Given the description of an element on the screen output the (x, y) to click on. 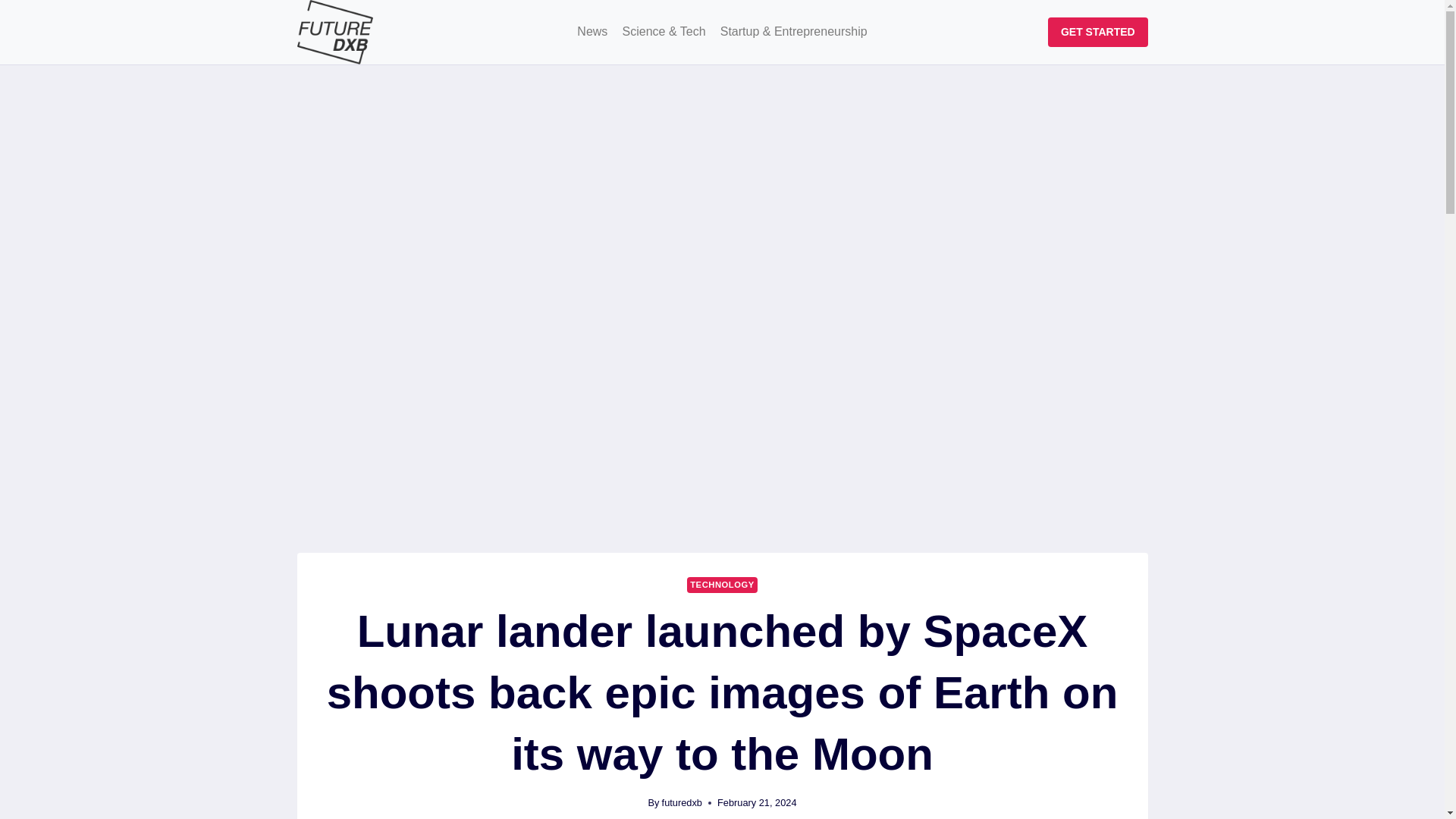
TECHNOLOGY (722, 584)
GET STARTED (1097, 31)
futuredxb (681, 802)
News (592, 32)
